Given the description of an element on the screen output the (x, y) to click on. 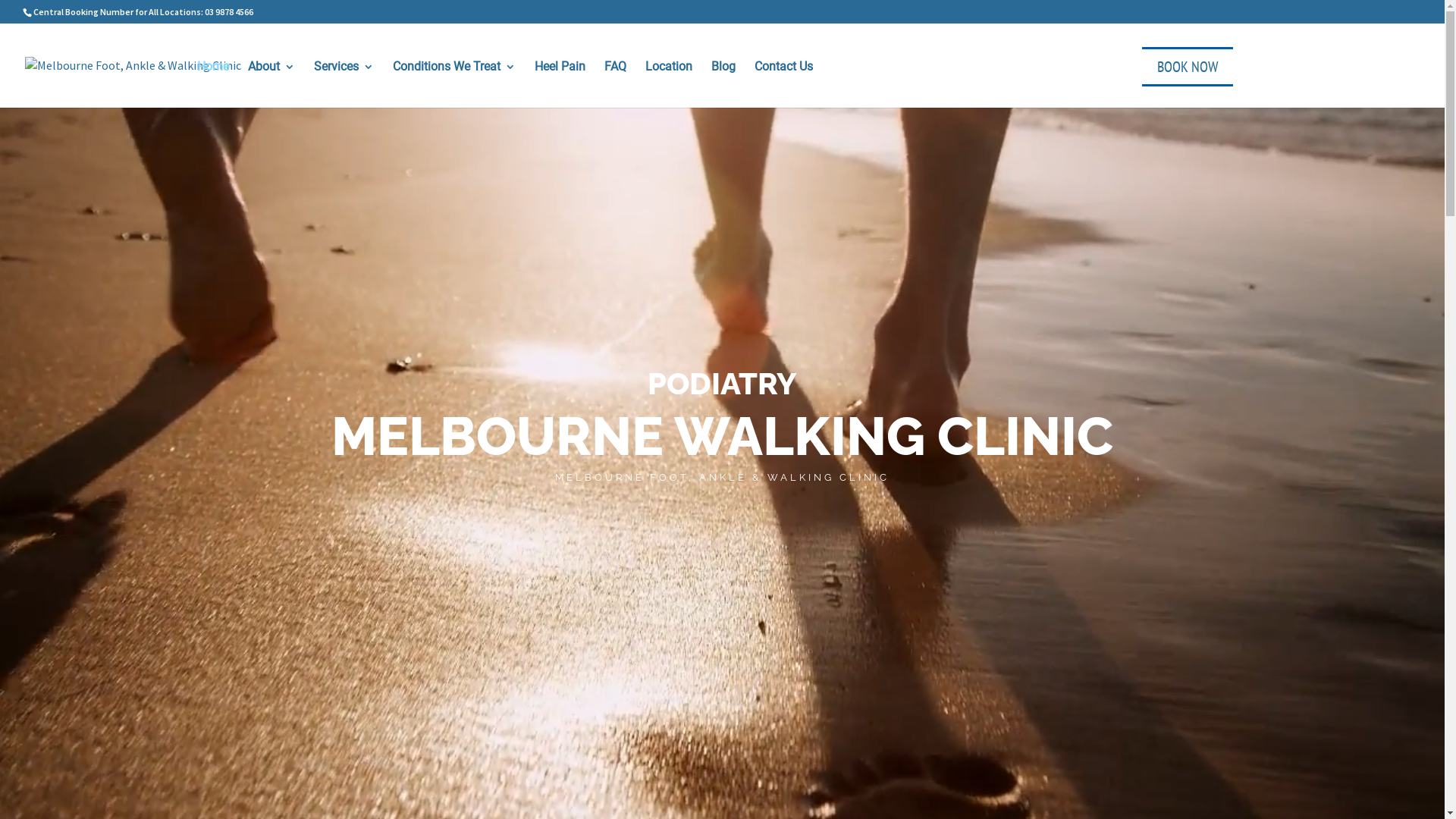
Location Element type: text (668, 82)
Home Element type: text (213, 82)
About Element type: text (270, 82)
Services Element type: text (343, 82)
Conditions We Treat Element type: text (453, 82)
Contact Us Element type: text (783, 82)
BOOK NOW Element type: text (1187, 66)
Blog Element type: text (723, 82)
Heel Pain Element type: text (559, 82)
FAQ Element type: text (615, 82)
